Given the description of an element on the screen output the (x, y) to click on. 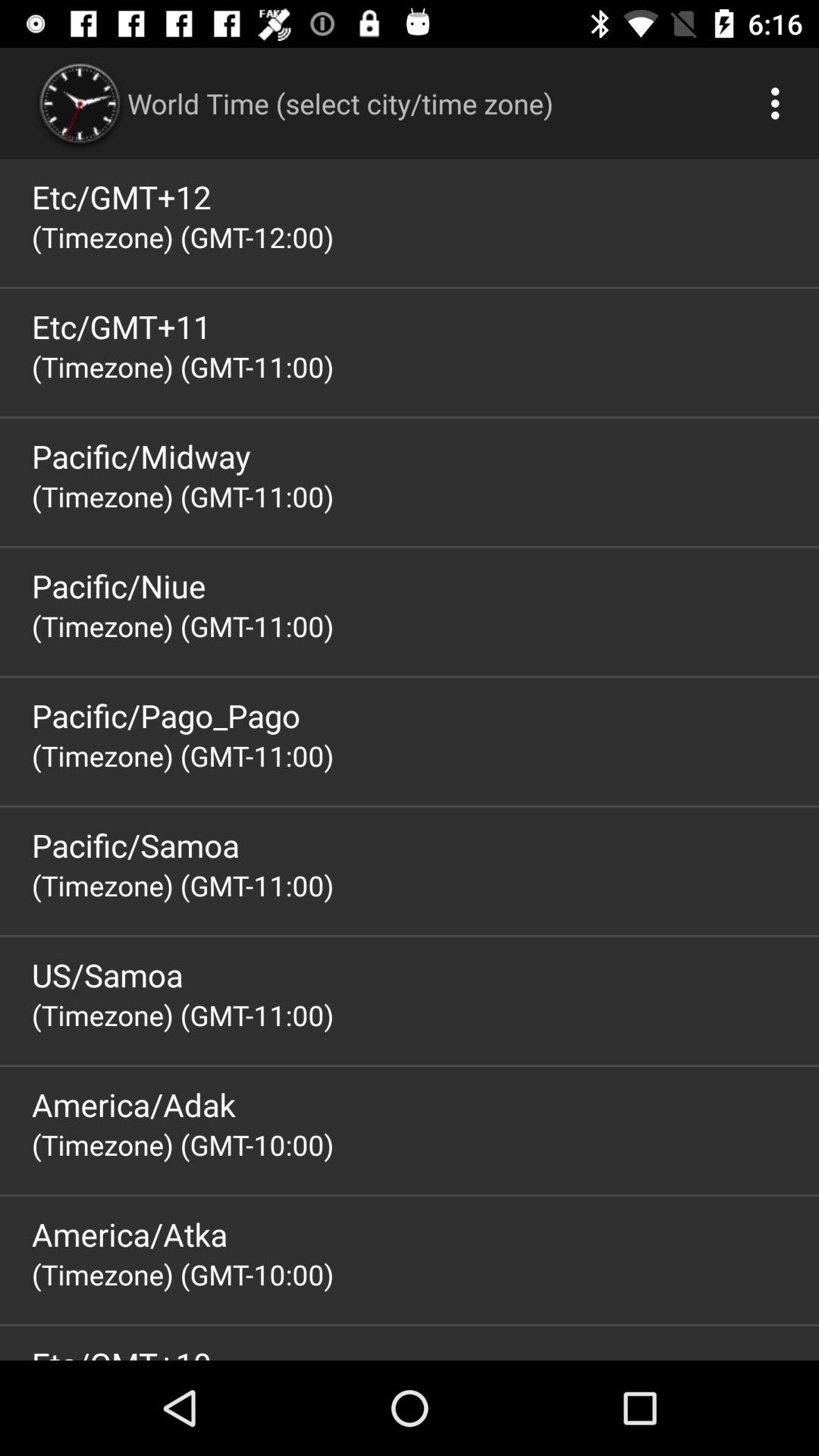
choose app above etc/gmt+12 (779, 103)
